Given the description of an element on the screen output the (x, y) to click on. 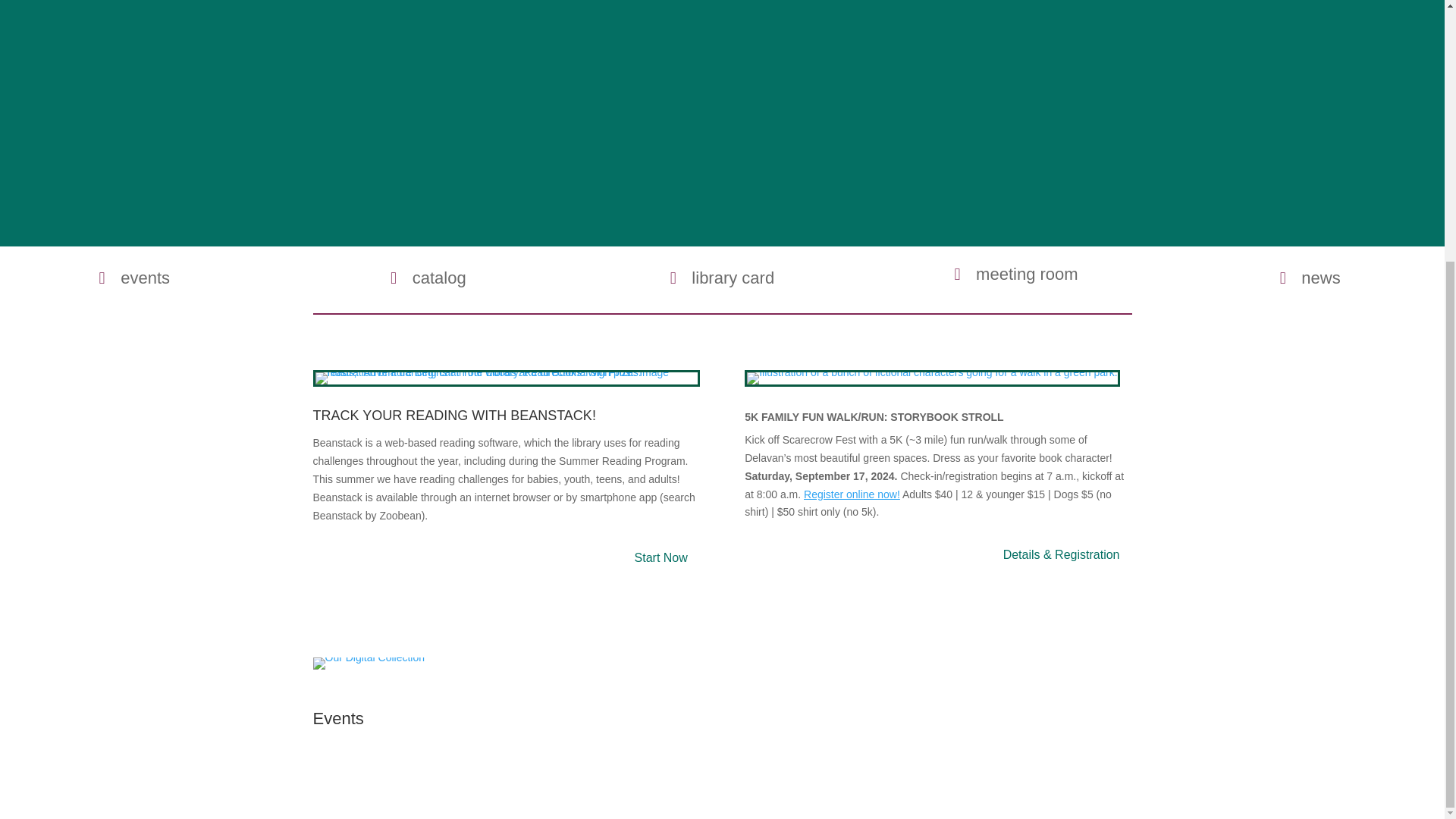
24 summer reading front page (506, 378)
digital-icon-search-bar (369, 663)
events (133, 277)
storybook stroll copy (931, 378)
